Given the description of an element on the screen output the (x, y) to click on. 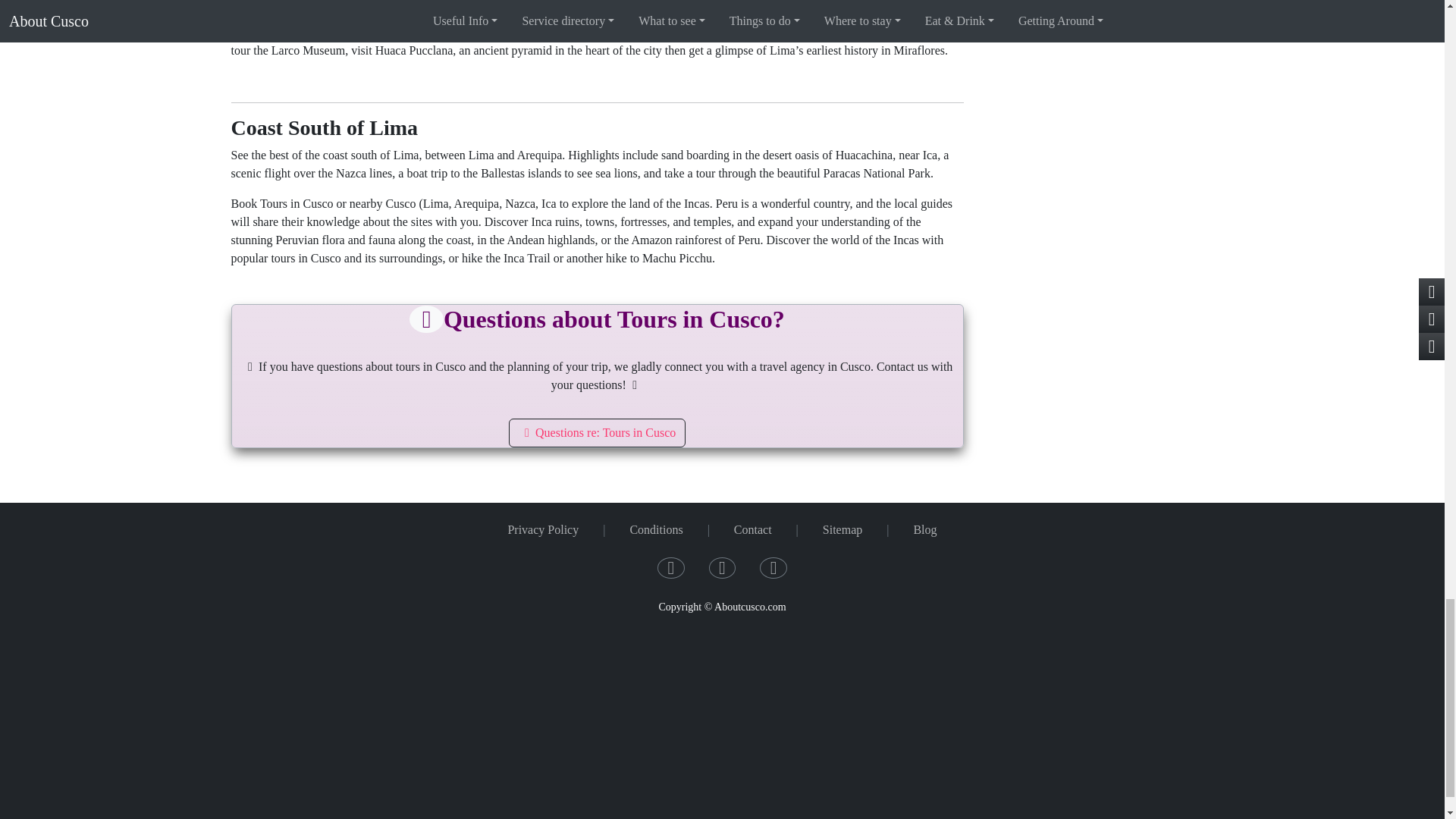
Our Pinterest (773, 569)
Our Twitter (722, 569)
Our Facebook (671, 569)
